Given the description of an element on the screen output the (x, y) to click on. 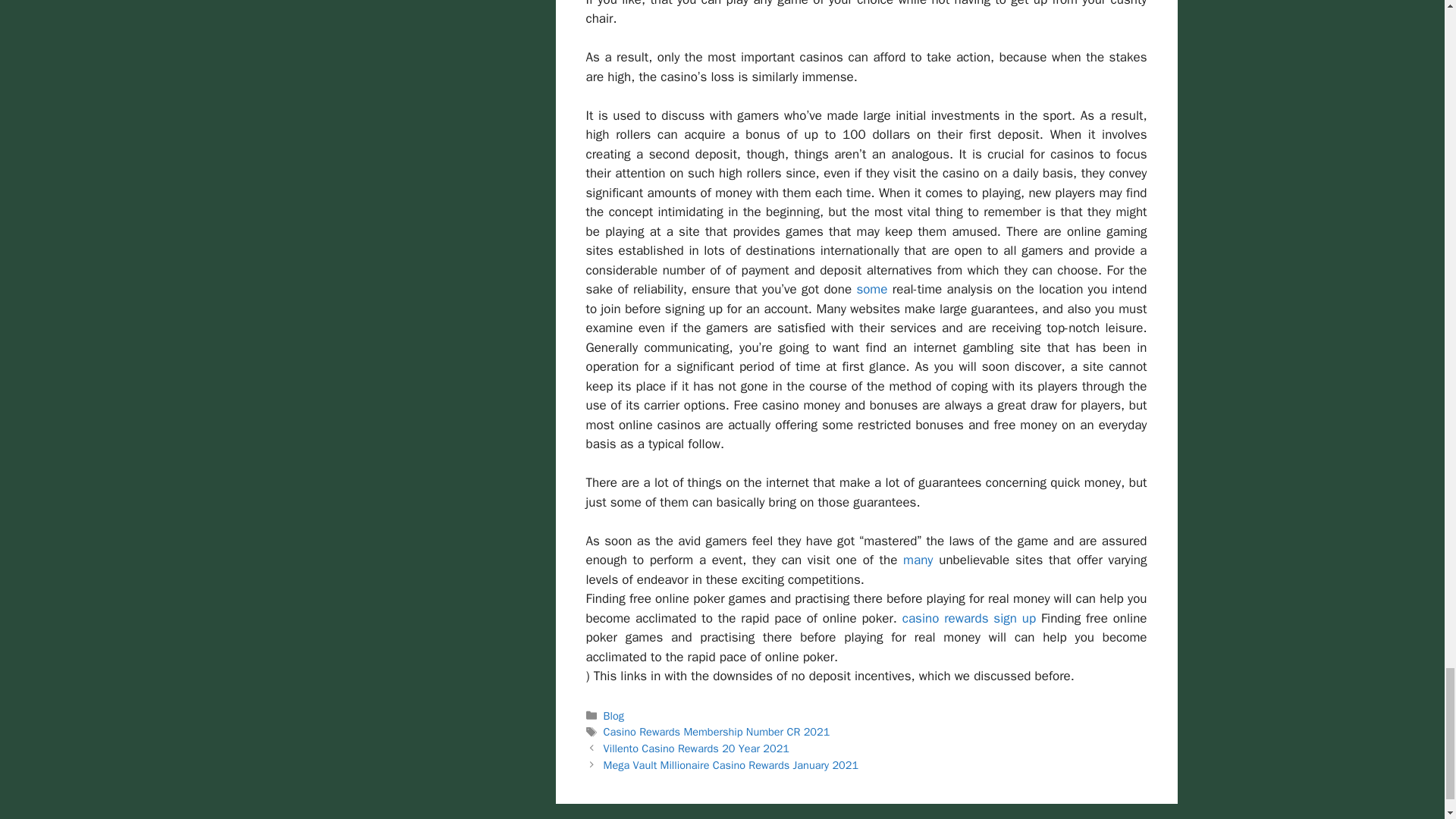
casino rewards sign up (968, 618)
Previous (696, 748)
some (871, 289)
many (917, 560)
Villento Casino Rewards 20 Year 2021 (696, 748)
Mega Vault Millionaire Casino Rewards January 2021 (731, 765)
Blog (614, 715)
Next (731, 765)
Casino Rewards Membership Number CR 2021 (716, 731)
